Given the description of an element on the screen output the (x, y) to click on. 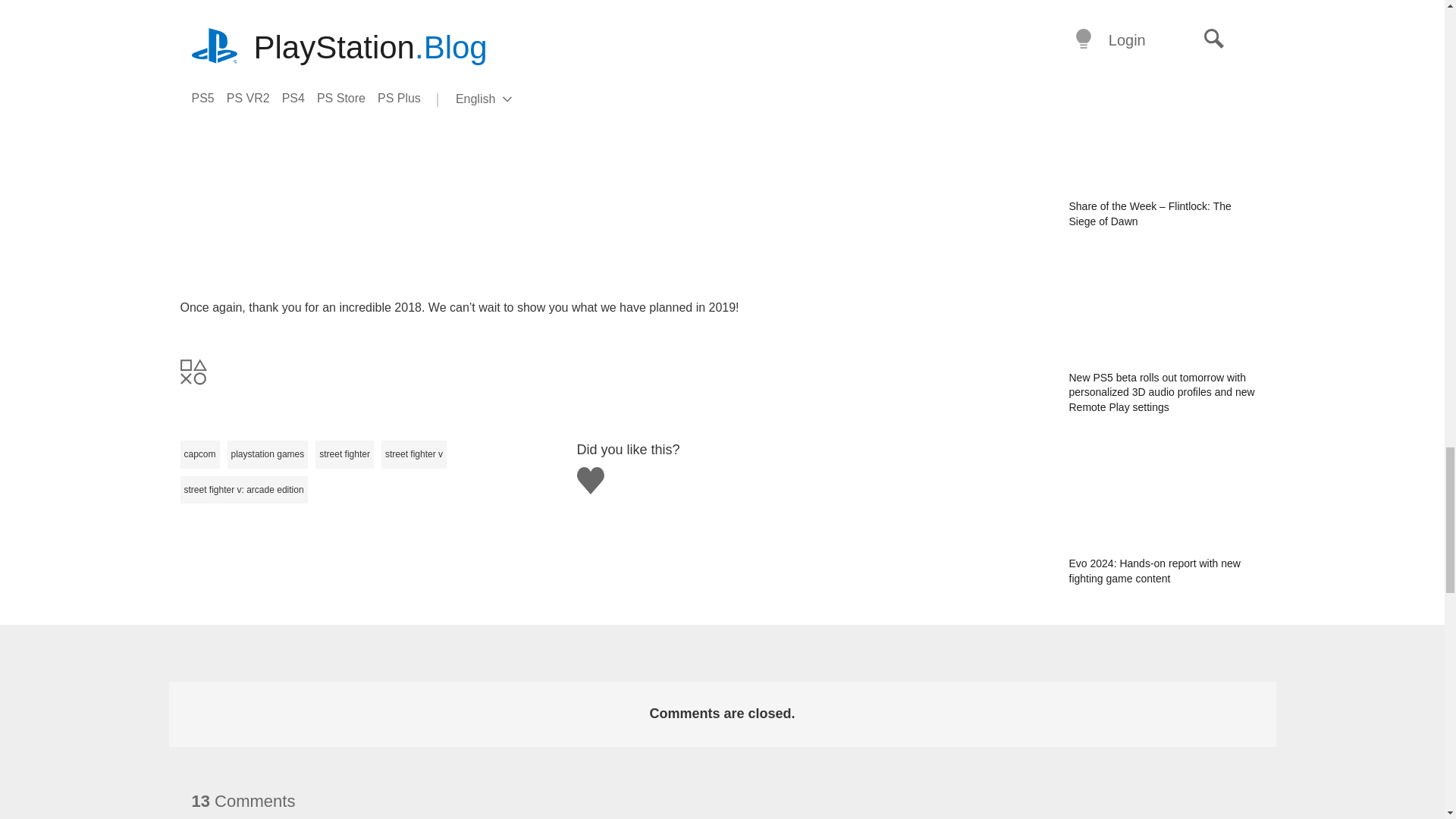
Like this (590, 480)
